Given the description of an element on the screen output the (x, y) to click on. 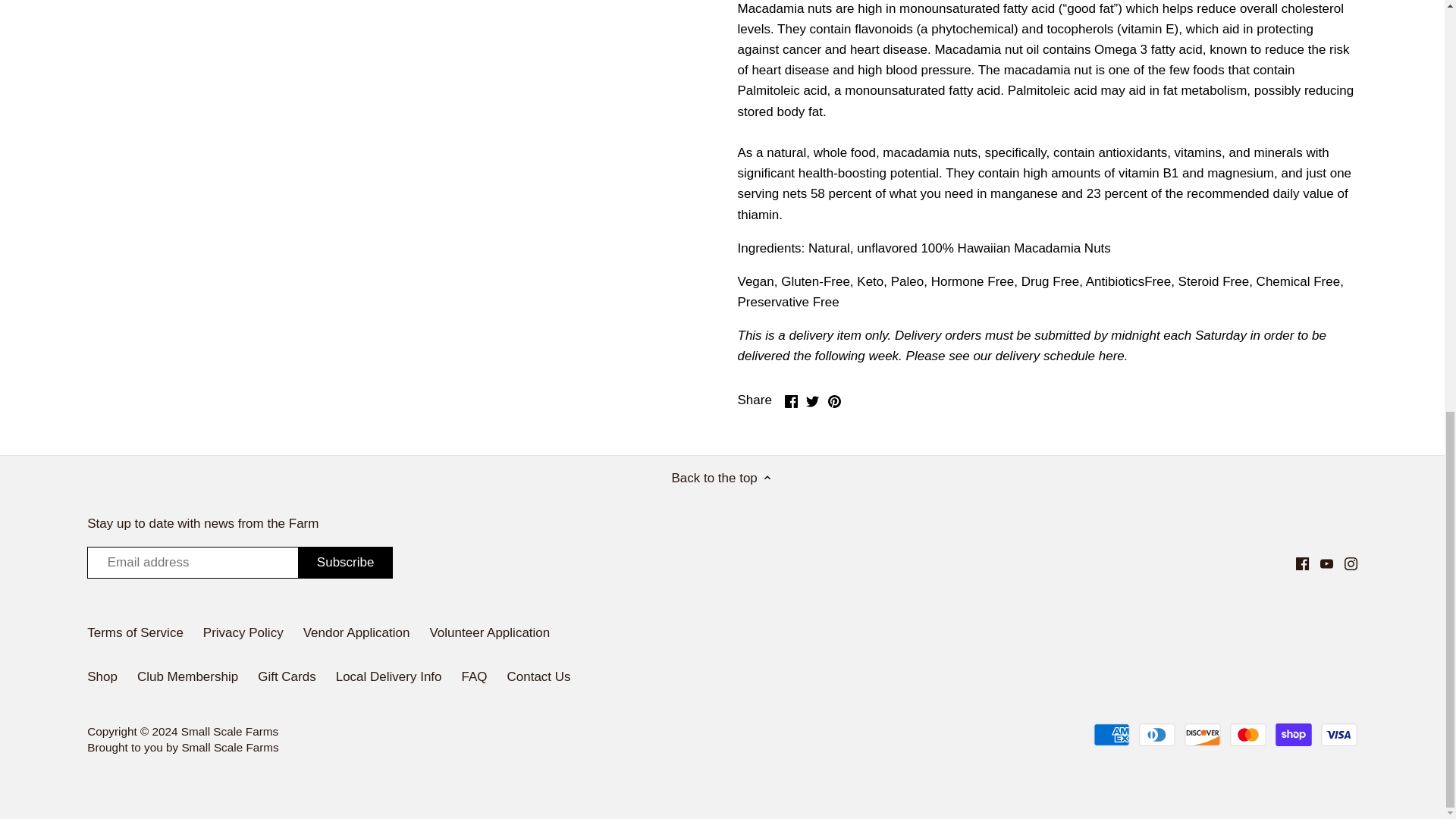
here (1111, 355)
Mastercard (1248, 734)
Visa (1338, 734)
Pinterest (834, 400)
Shop Pay (1293, 734)
Instagram (1349, 563)
Diners Club (1156, 734)
Facebook (1301, 563)
American Express (1111, 734)
Subscribe (345, 562)
